Given the description of an element on the screen output the (x, y) to click on. 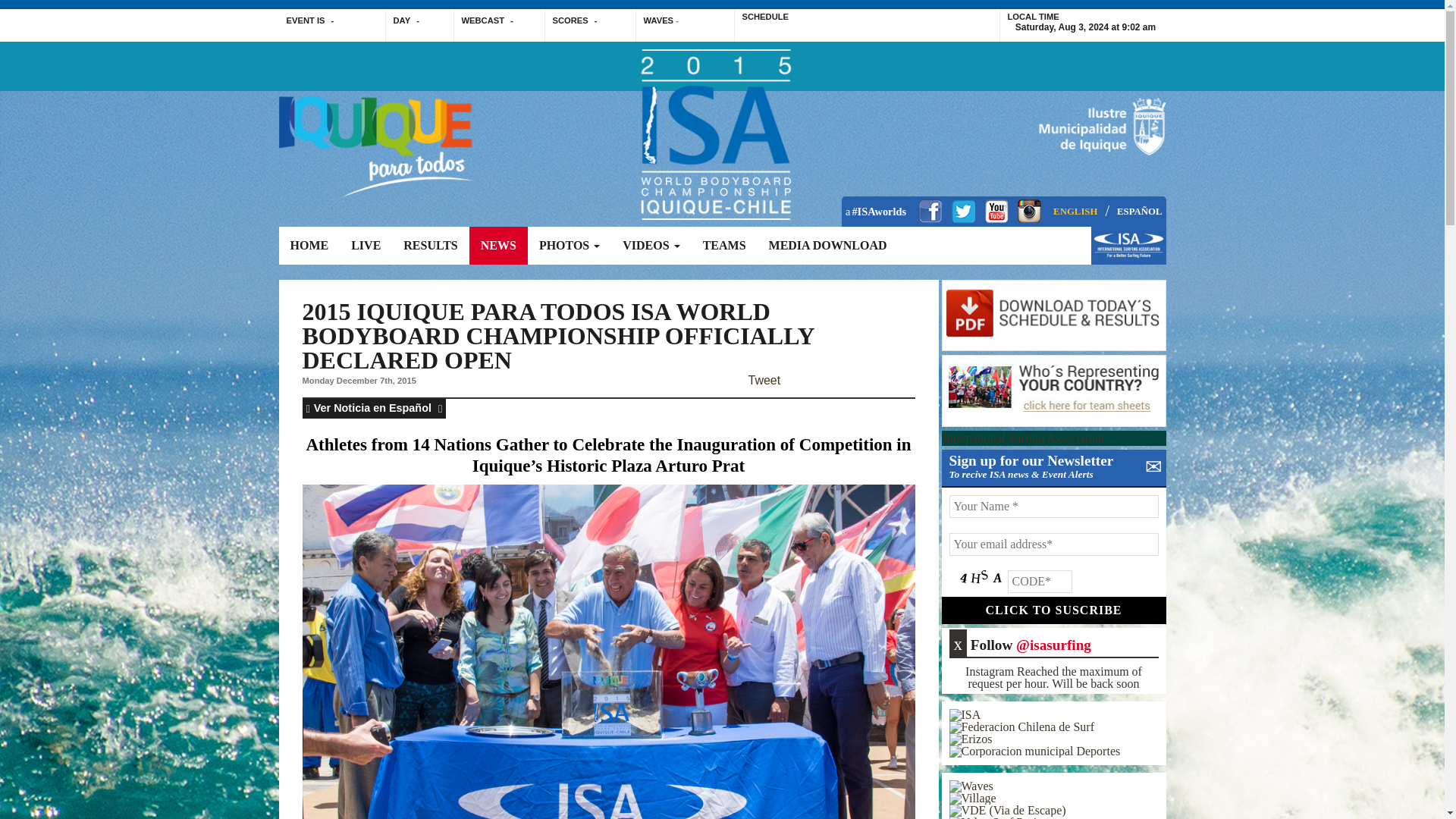
MENU ITEM (1128, 253)
LIVE (365, 245)
Tweet (764, 380)
ENGLISH (1074, 211)
VIDEOS (650, 245)
HOME (309, 245)
NEWS (497, 245)
MEDIA DOWNLOAD (827, 245)
TEAMS (724, 245)
RESULTS (429, 245)
